Given the description of an element on the screen output the (x, y) to click on. 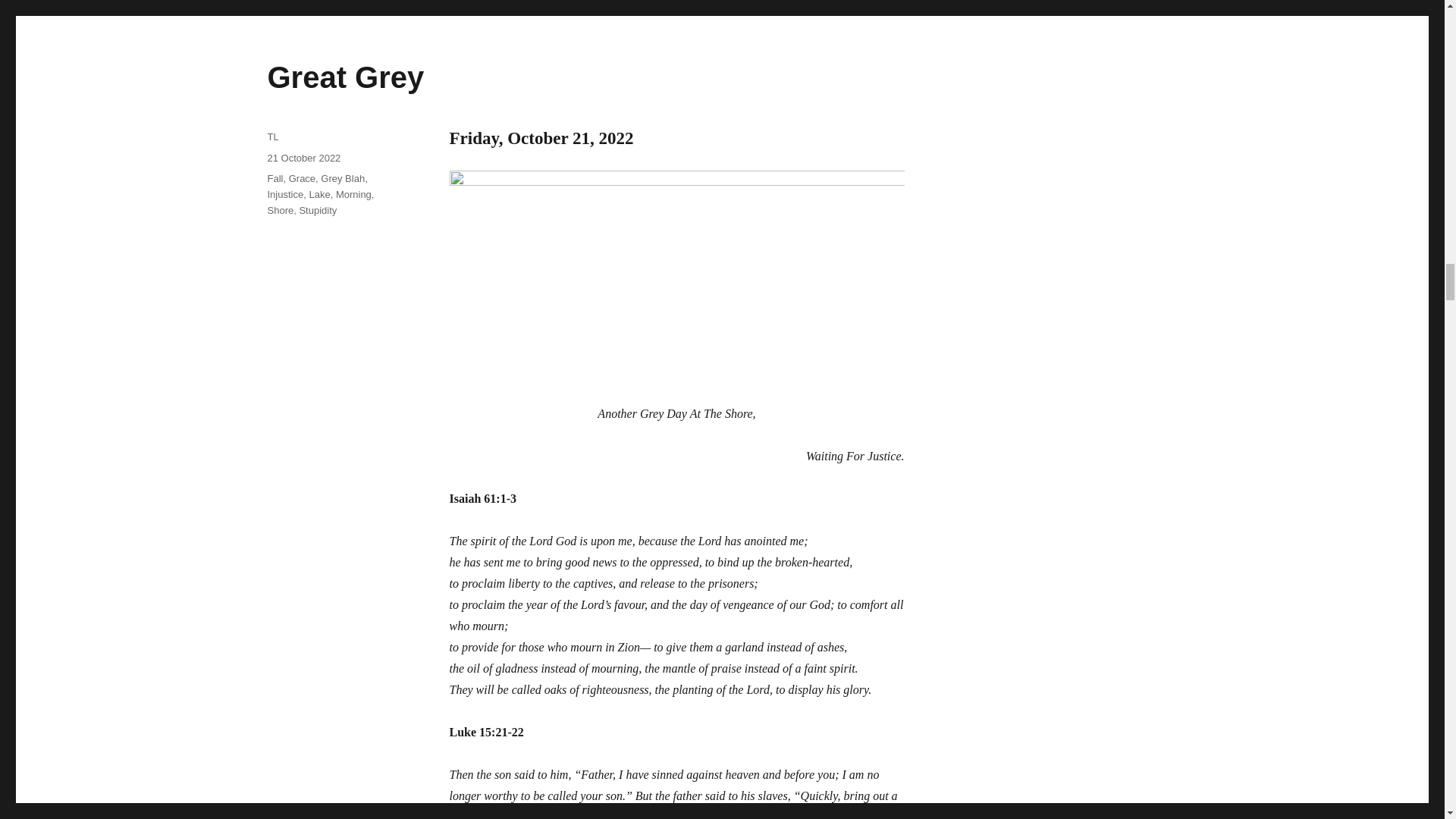
Grace (301, 178)
Fall (274, 178)
Grey Blah (342, 178)
Lake (319, 194)
Morning (353, 194)
Great Grey (344, 77)
21 October 2022 (303, 156)
Shore (280, 210)
TL (272, 136)
Injustice (284, 194)
